Given the description of an element on the screen output the (x, y) to click on. 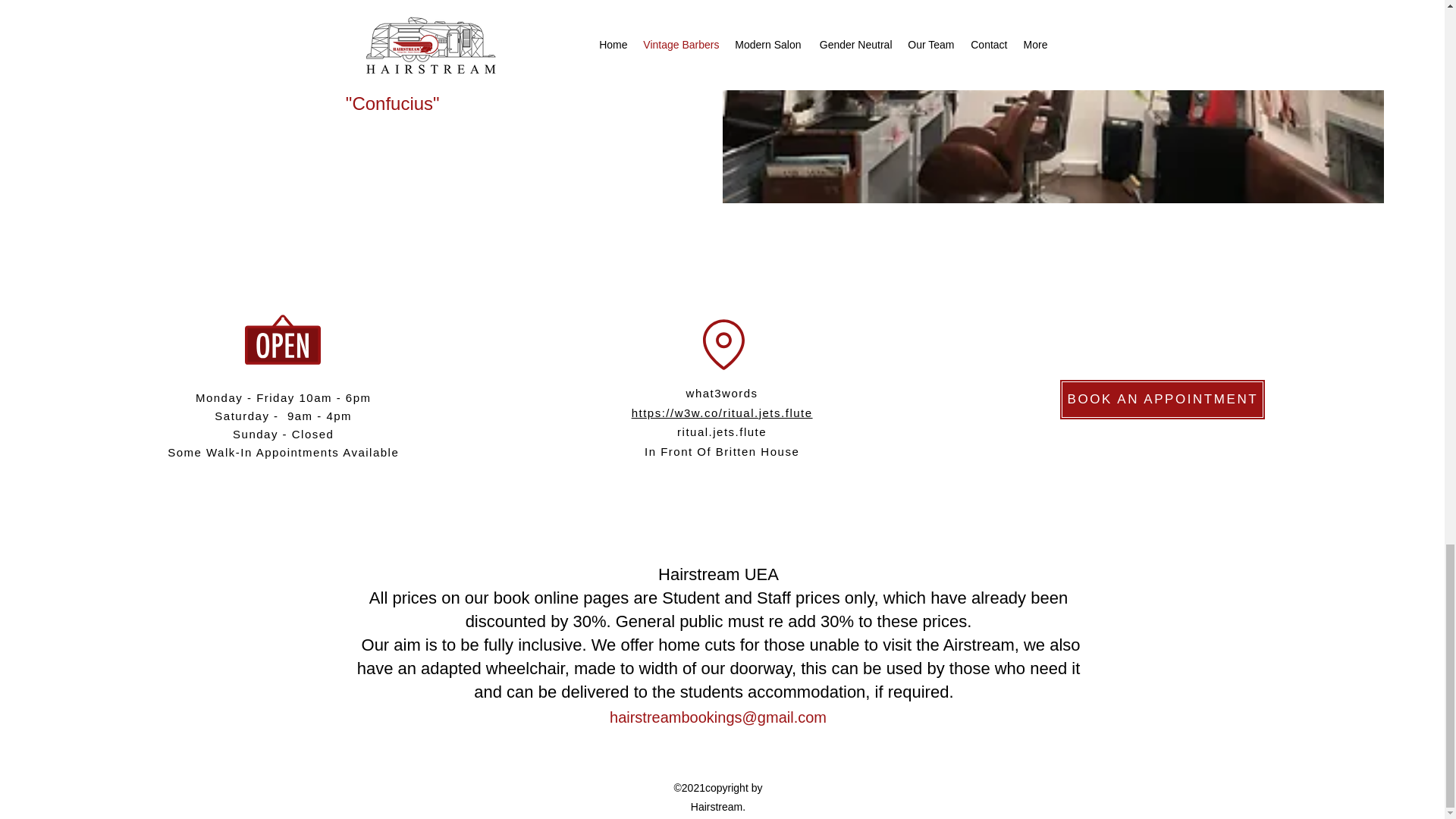
BOOK AN APPOINTMENT (1162, 399)
